Given the description of an element on the screen output the (x, y) to click on. 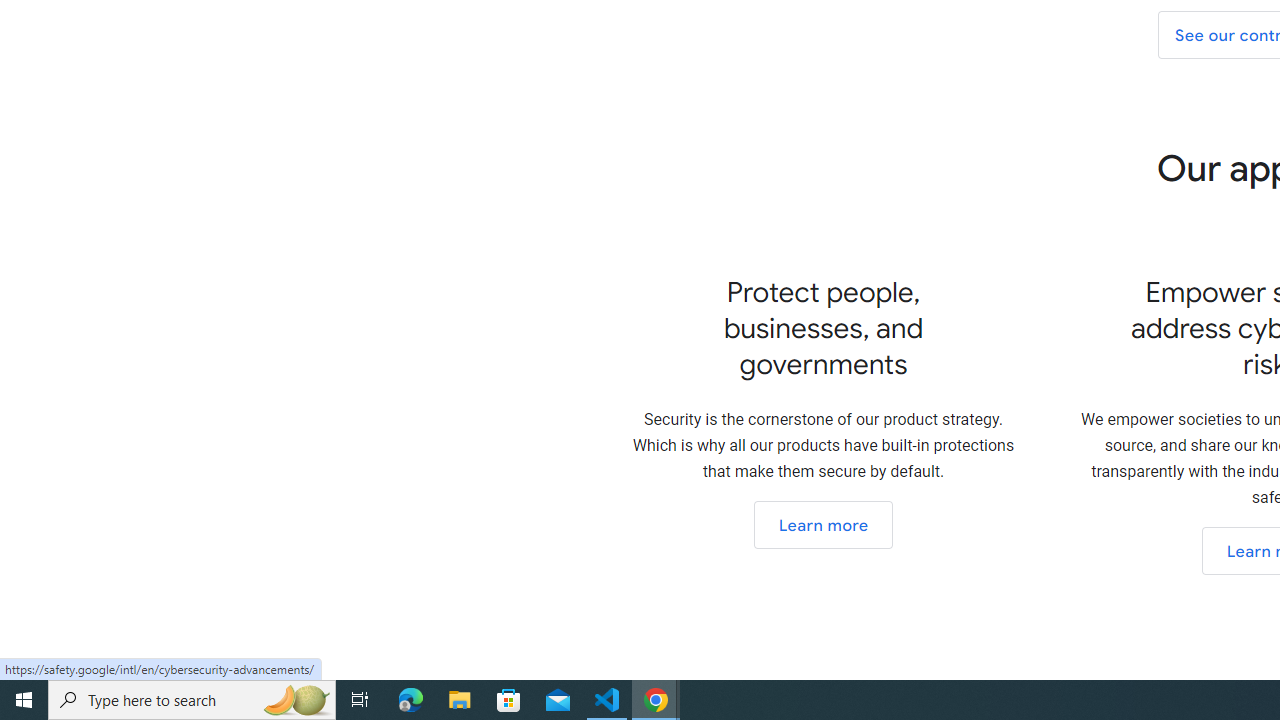
Go to our Safety section (822, 524)
